Given the description of an element on the screen output the (x, y) to click on. 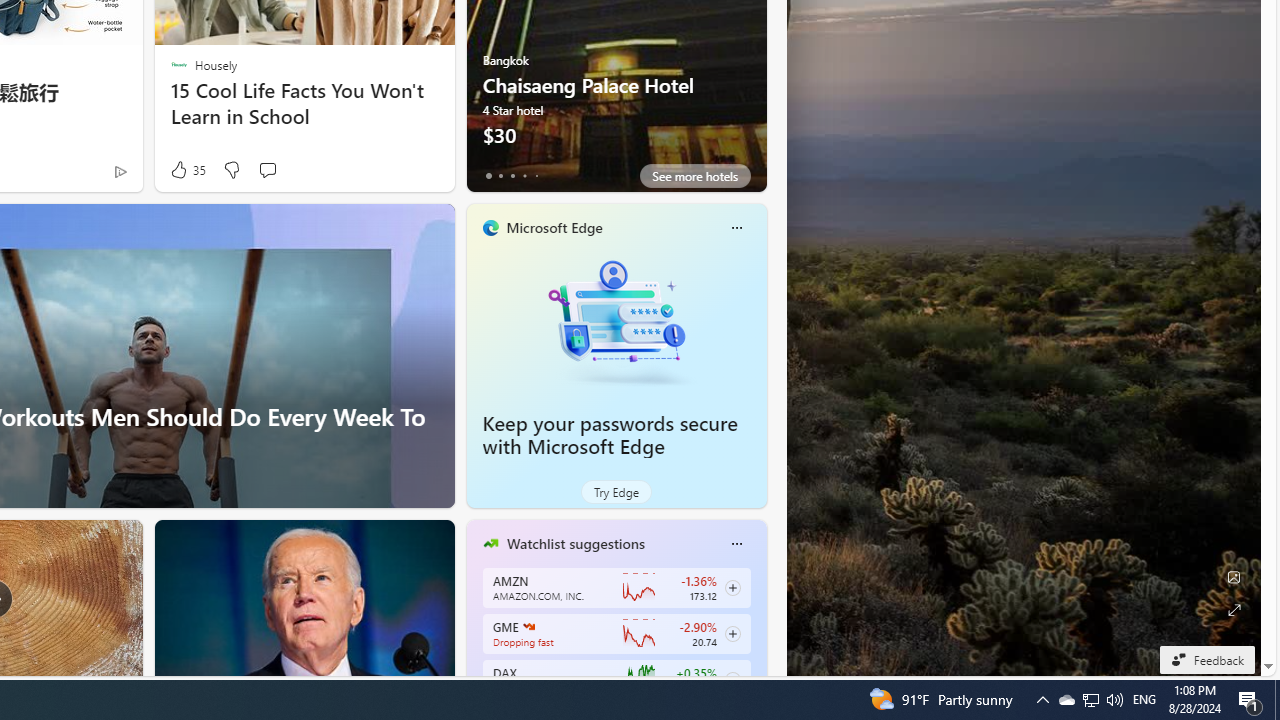
Start the conversation (267, 170)
See more hotels (694, 175)
Expand background (1233, 610)
Microsoft Edge (553, 227)
Keep your passwords secure with Microsoft Edge (610, 435)
Edit Background (1233, 577)
Feedback (1206, 659)
Start the conversation (267, 169)
tab-1 (500, 175)
Class: follow-button  m (732, 679)
More options (736, 543)
Dislike (230, 170)
Ad Choice (119, 171)
Keep your passwords secure with Microsoft Edge (616, 321)
Class: icon-img (736, 543)
